Given the description of an element on the screen output the (x, y) to click on. 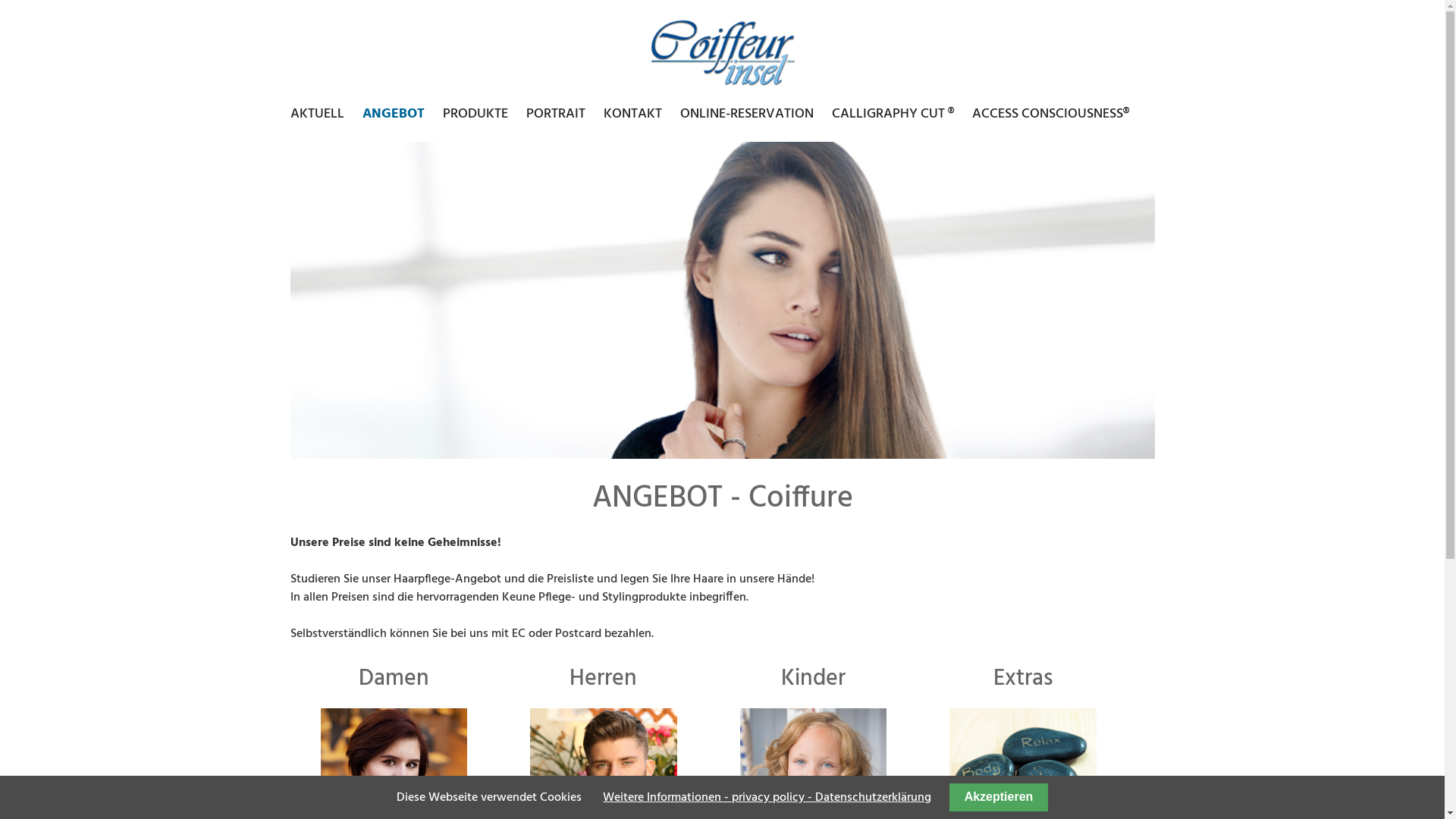
KONTAKT Element type: text (632, 113)
PORTRAIT Element type: text (555, 113)
  Element type: text (289, 131)
ONLINE-RESERVATION Element type: text (745, 113)
AKTUELL Element type: text (320, 113)
PRODUKTE Element type: text (475, 113)
Akzeptieren Element type: text (998, 797)
coiffure insel Uster Element type: hover (721, 49)
